Given the description of an element on the screen output the (x, y) to click on. 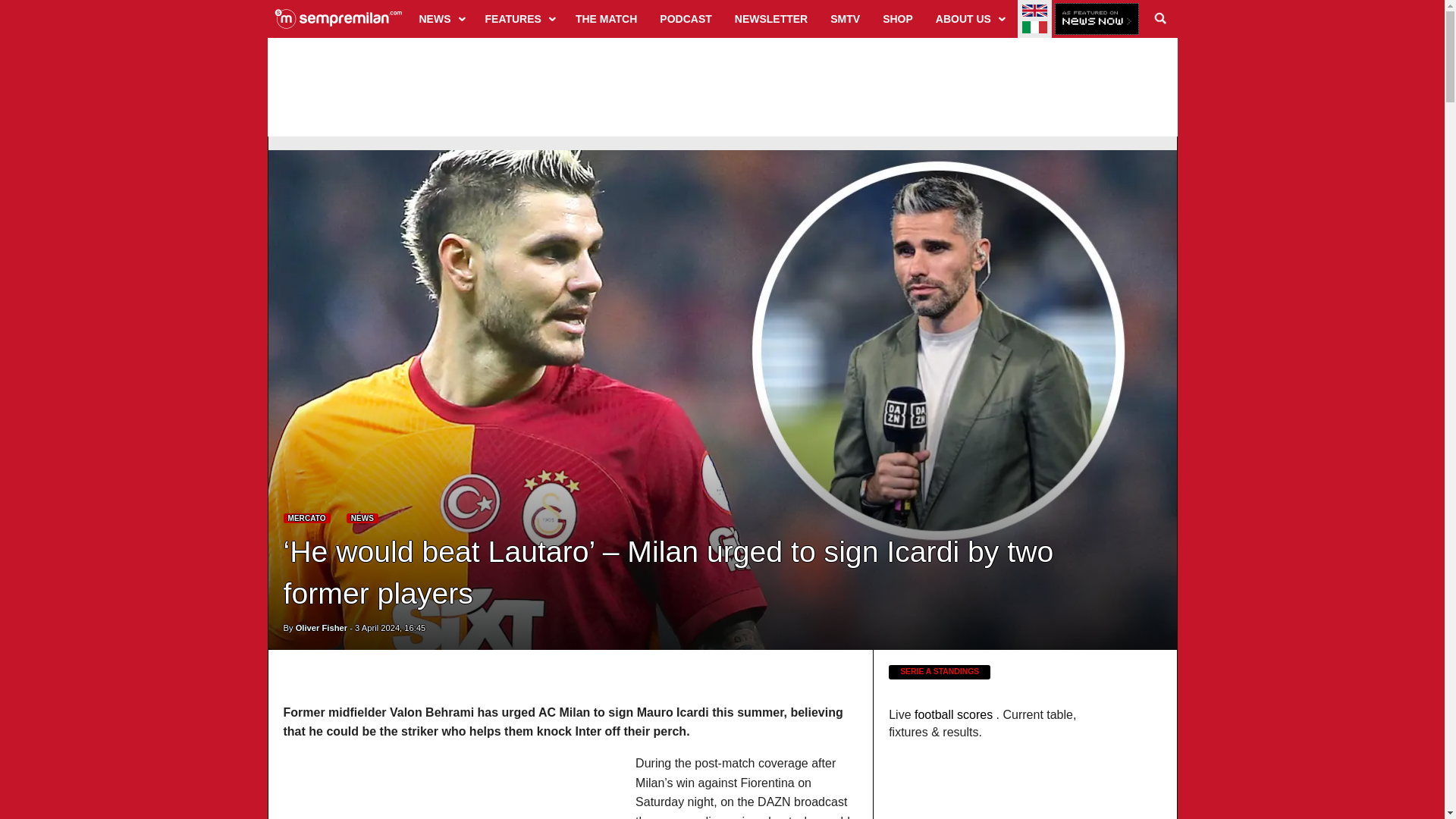
NEWS (440, 18)
Visit our Italian language site (1034, 27)
THE MATCH (605, 18)
HOME (338, 18)
Click here for more AC Milan news from NewsNow (1096, 19)
Currently viewing our English language site (1034, 10)
ABOUT US (968, 18)
Latest News News (362, 518)
FEATURES (518, 18)
NEWSLETTER (770, 18)
Search (1160, 18)
SMTV (844, 18)
Latest Mercato News (306, 518)
SHOP (897, 18)
PODCAST (684, 18)
